Given the description of an element on the screen output the (x, y) to click on. 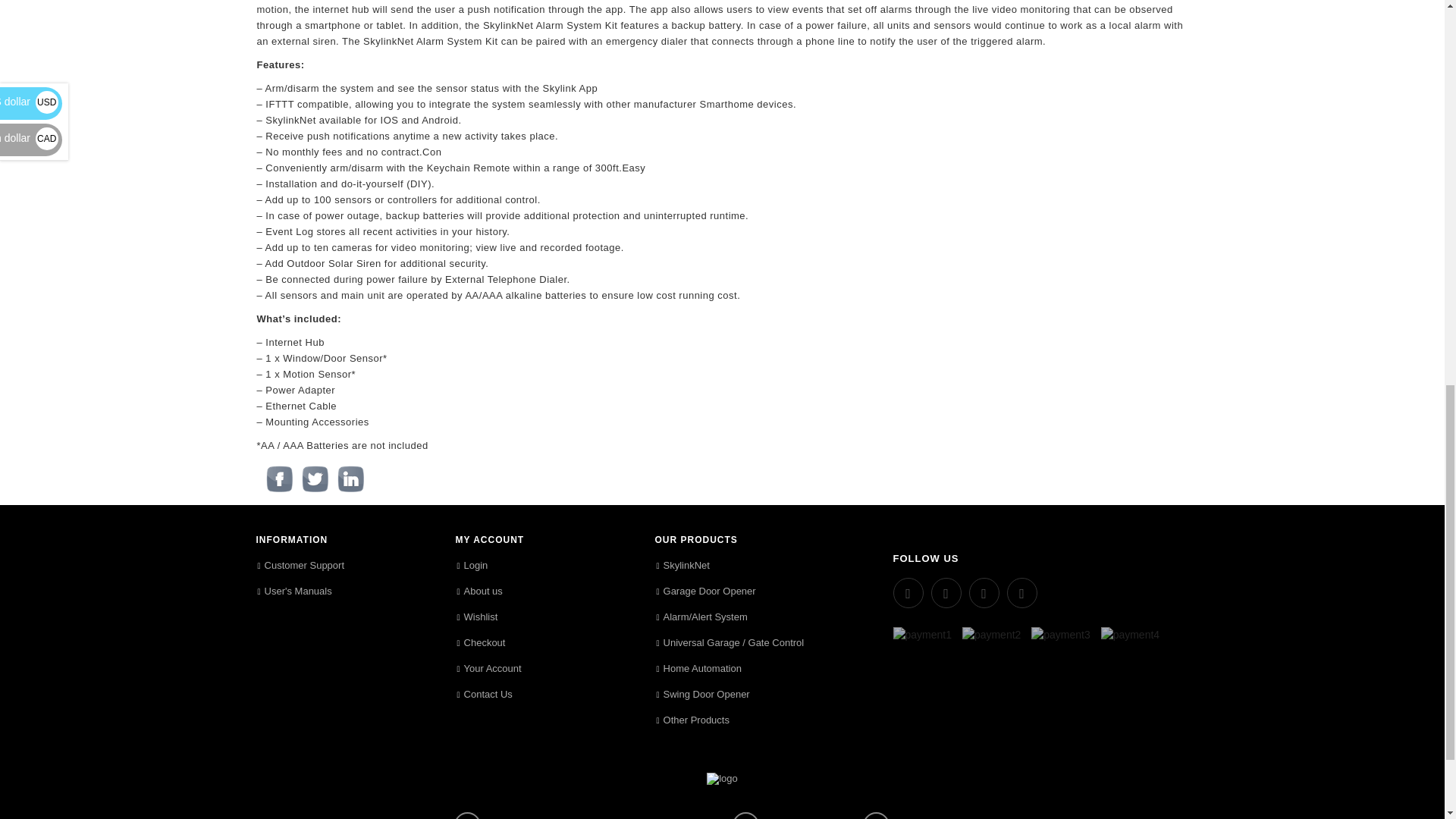
LinkedIn (350, 478)
Customer Support (301, 565)
Facebook (279, 478)
Twitter (315, 478)
User's Manuals (294, 590)
